Given the description of an element on the screen output the (x, y) to click on. 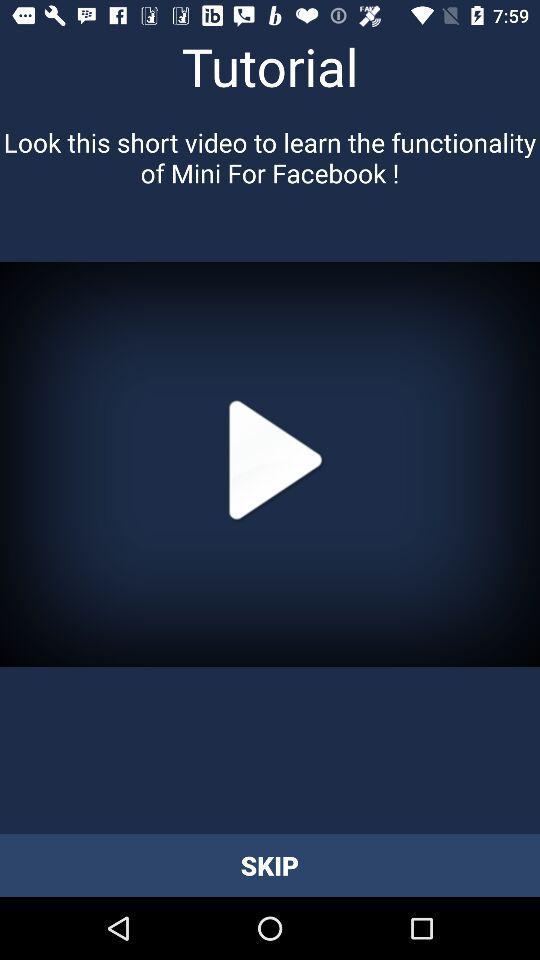
turn off item below look this short item (270, 463)
